Given the description of an element on the screen output the (x, y) to click on. 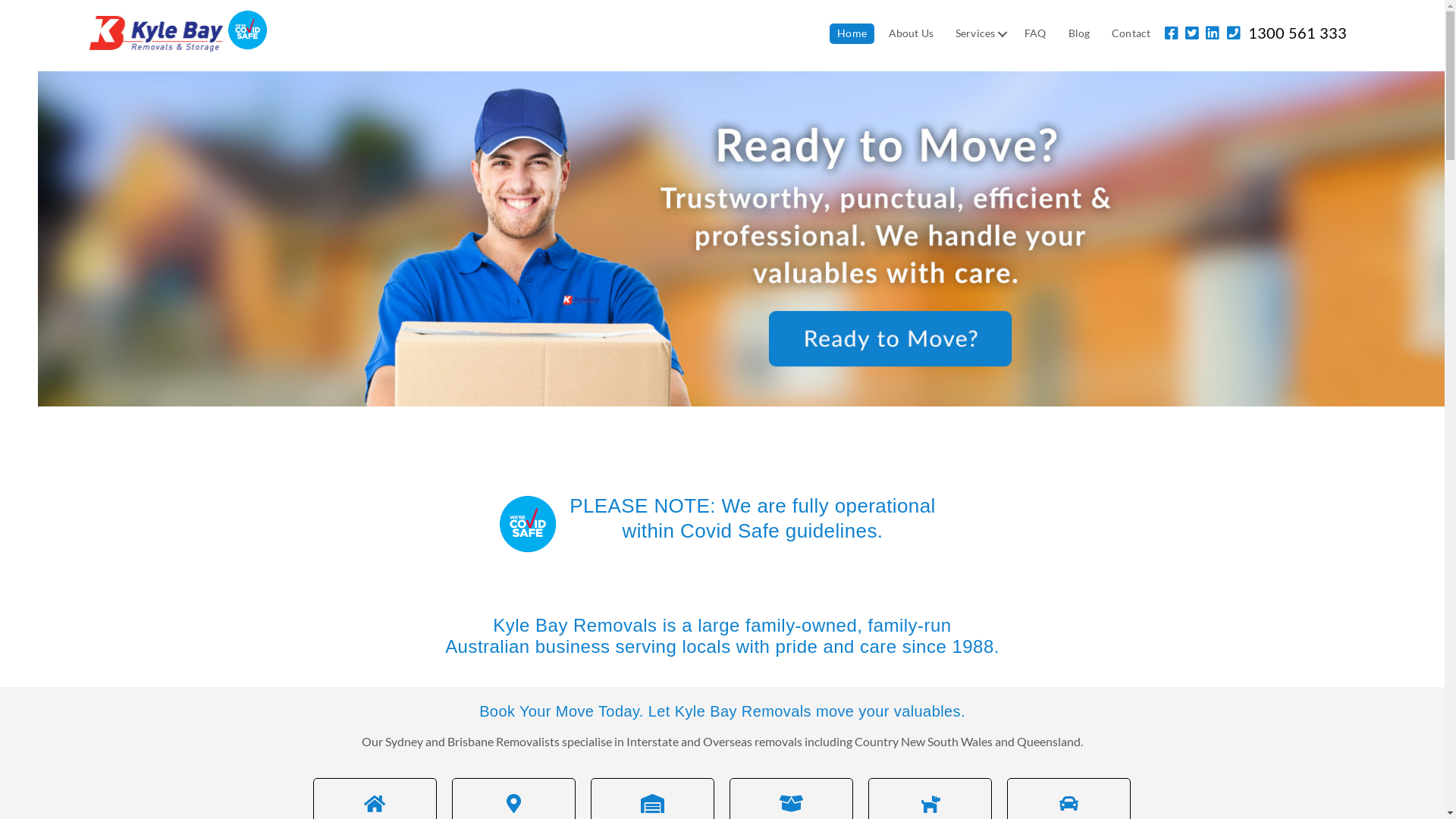
We're Covid Safe Element type: hover (247, 29)
Blog Element type: text (1079, 33)
FAQ Element type: text (1034, 33)
Home Element type: text (851, 33)
Contact Element type: text (1130, 33)
1300 561 333 Element type: text (1292, 32)
Services Element type: text (978, 33)
About Us Element type: text (911, 33)
